Given the description of an element on the screen output the (x, y) to click on. 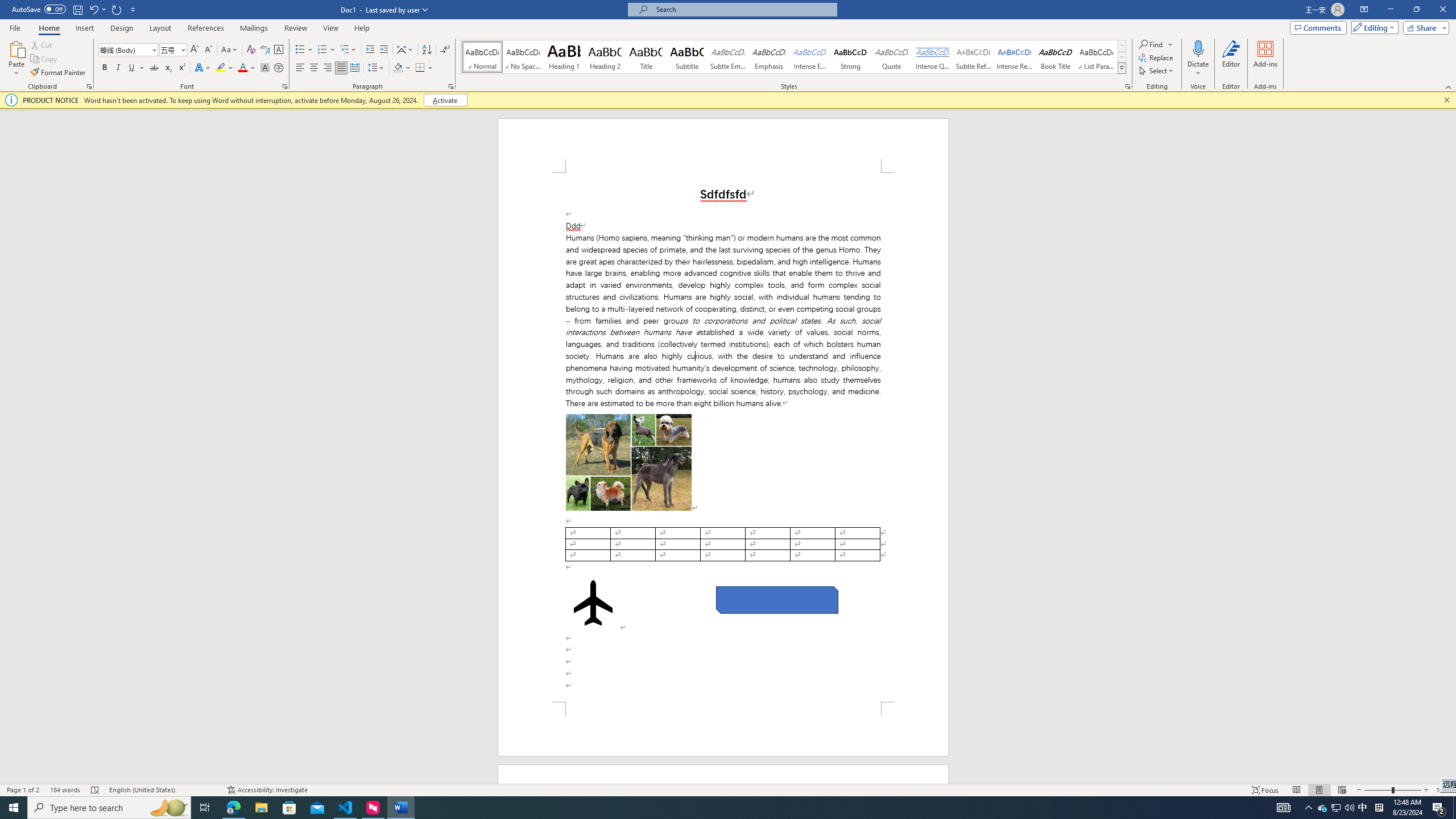
Font Color RGB(255, 0, 0) (241, 67)
Emphasis (768, 56)
Rectangle: Diagonal Corners Snipped 2 (777, 599)
